Given the description of an element on the screen output the (x, y) to click on. 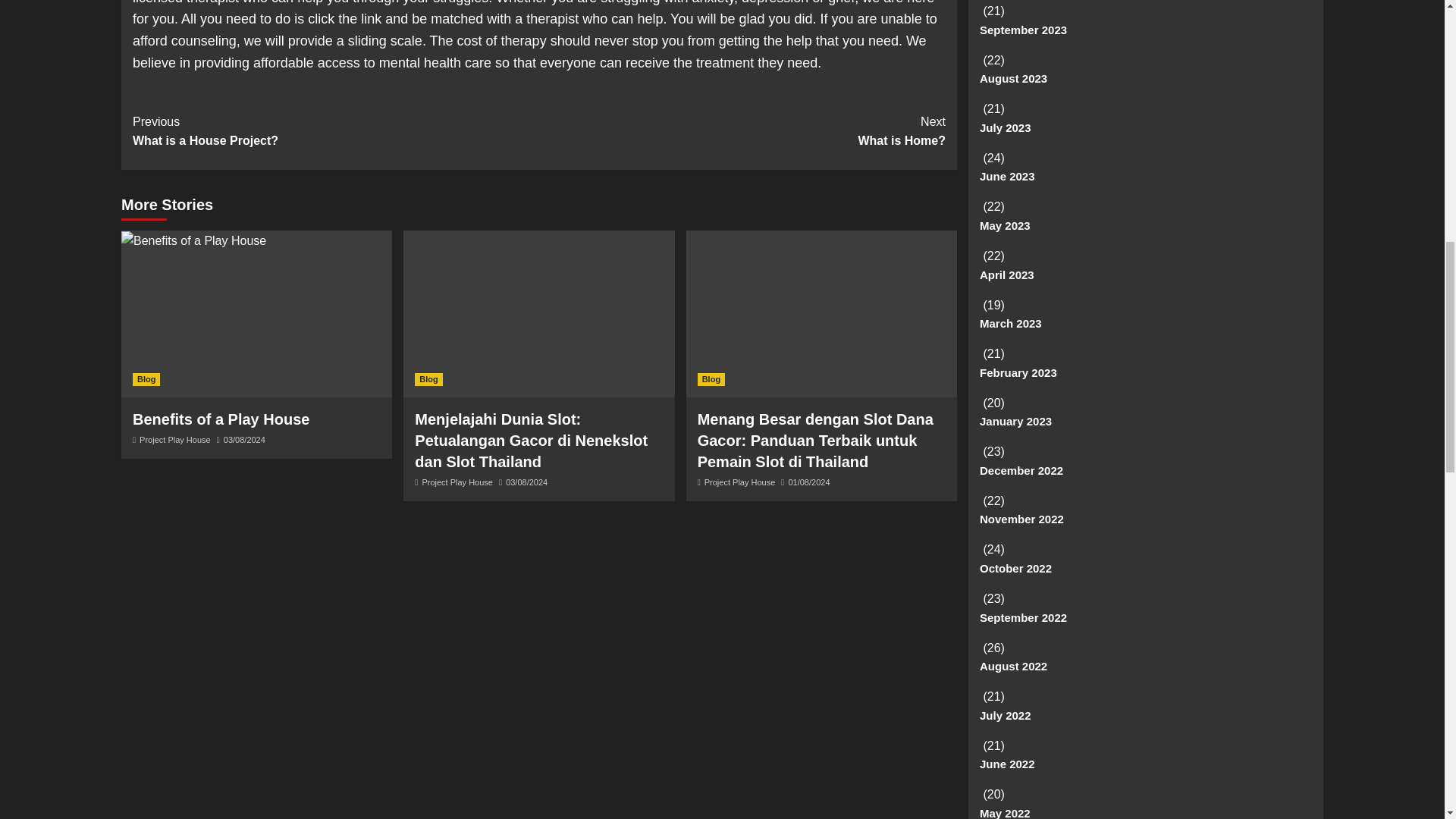
Project Play House (335, 131)
Benefits of a Play House (175, 439)
Project Play House (220, 419)
Blog (740, 481)
Project Play House (711, 379)
October 2023 (457, 481)
Blog (428, 379)
